Given the description of an element on the screen output the (x, y) to click on. 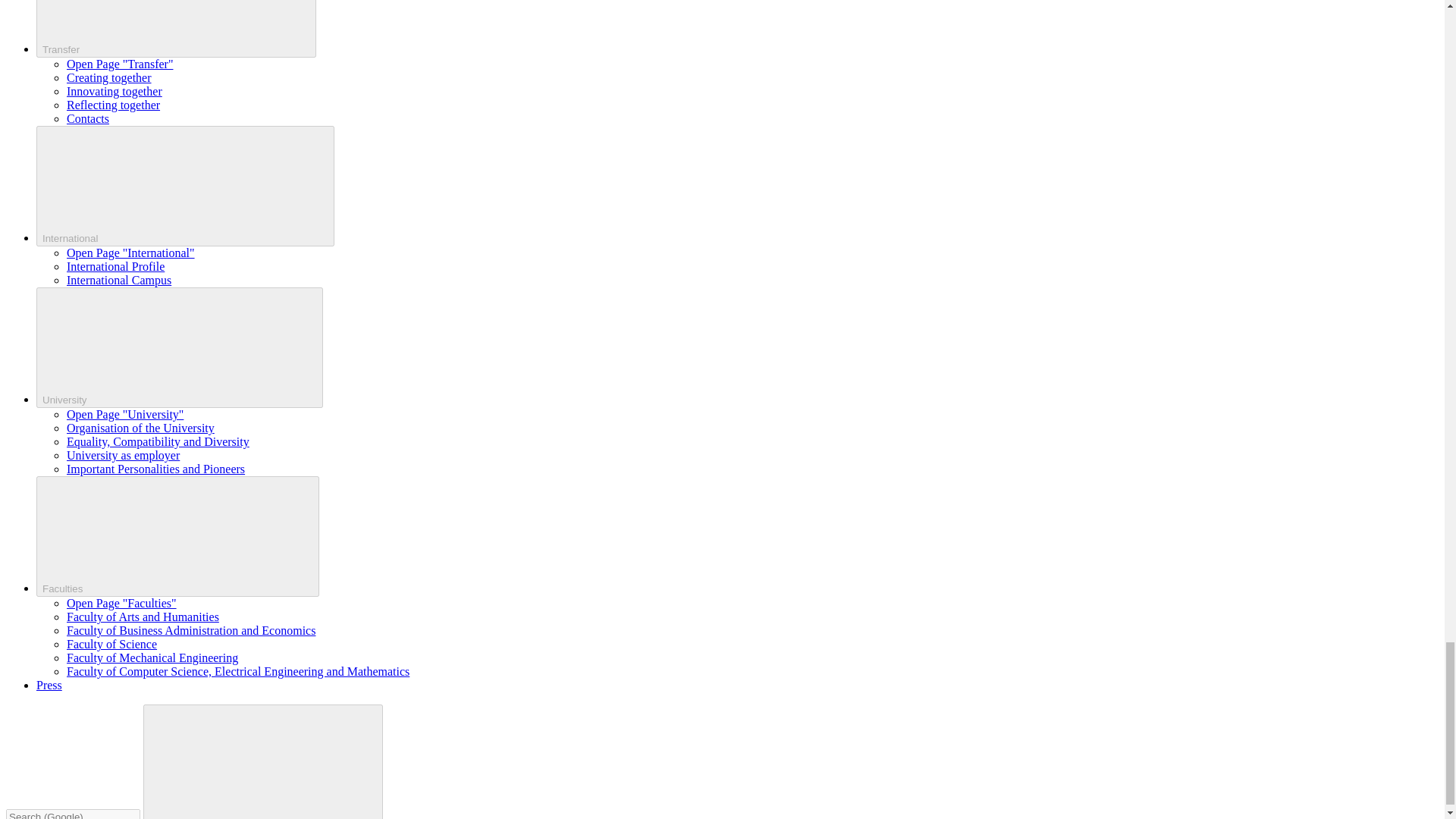
toggle submenu (185, 186)
toggle submenu (179, 347)
toggle submenu (177, 536)
toggle submenu (175, 28)
